Given the description of an element on the screen output the (x, y) to click on. 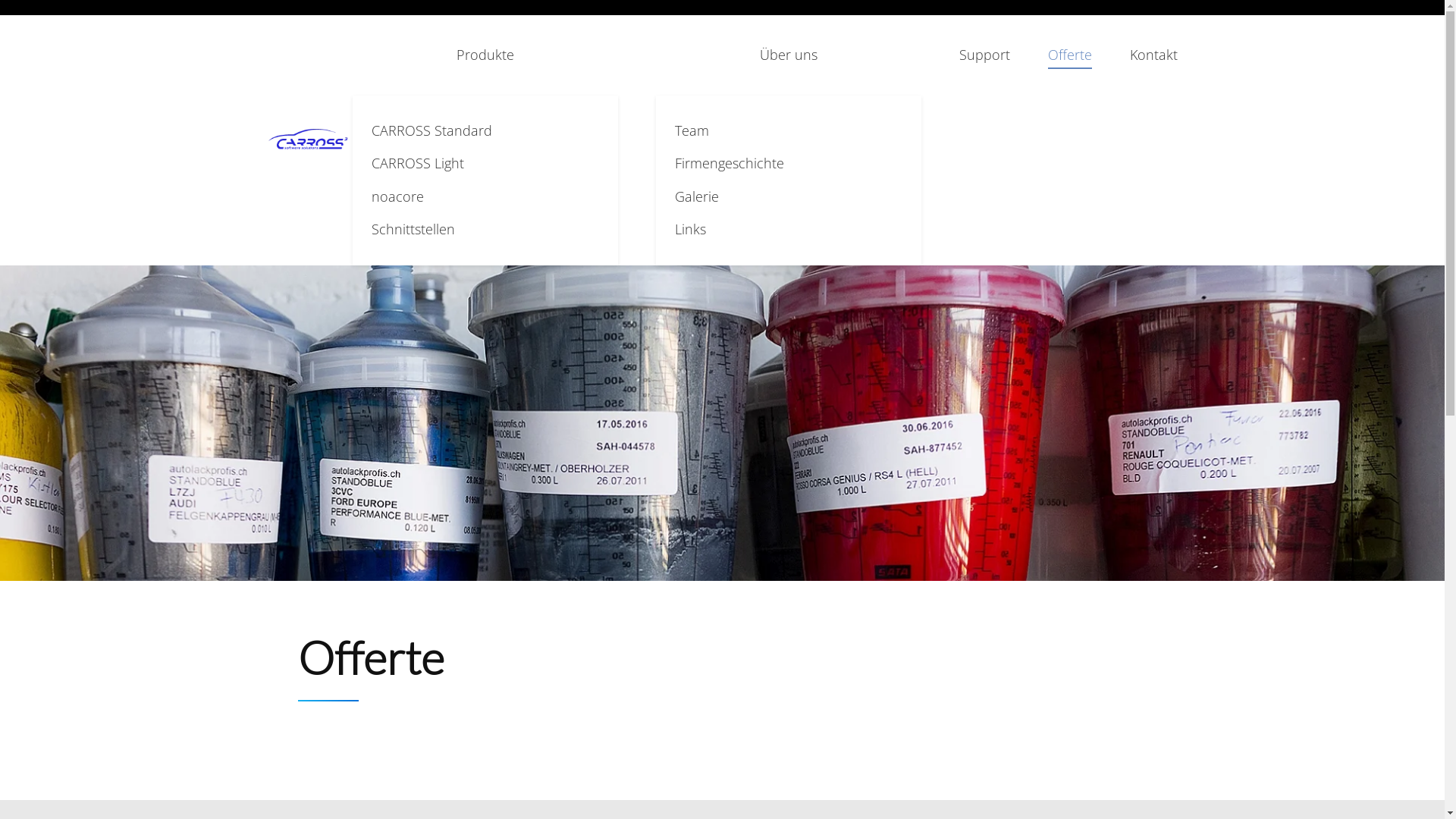
CARROSS Standard Element type: text (485, 130)
noacore Element type: text (485, 196)
Galerie Element type: text (788, 196)
Team Element type: text (788, 130)
Offerte Element type: text (1070, 55)
Produkte Element type: text (484, 55)
Schnittstellen Element type: text (485, 229)
Links Element type: text (788, 229)
CARROSS Light Element type: text (485, 163)
Firmengeschichte Element type: text (788, 163)
Kontakt Element type: text (1153, 55)
Support Element type: text (983, 55)
